Given the description of an element on the screen output the (x, y) to click on. 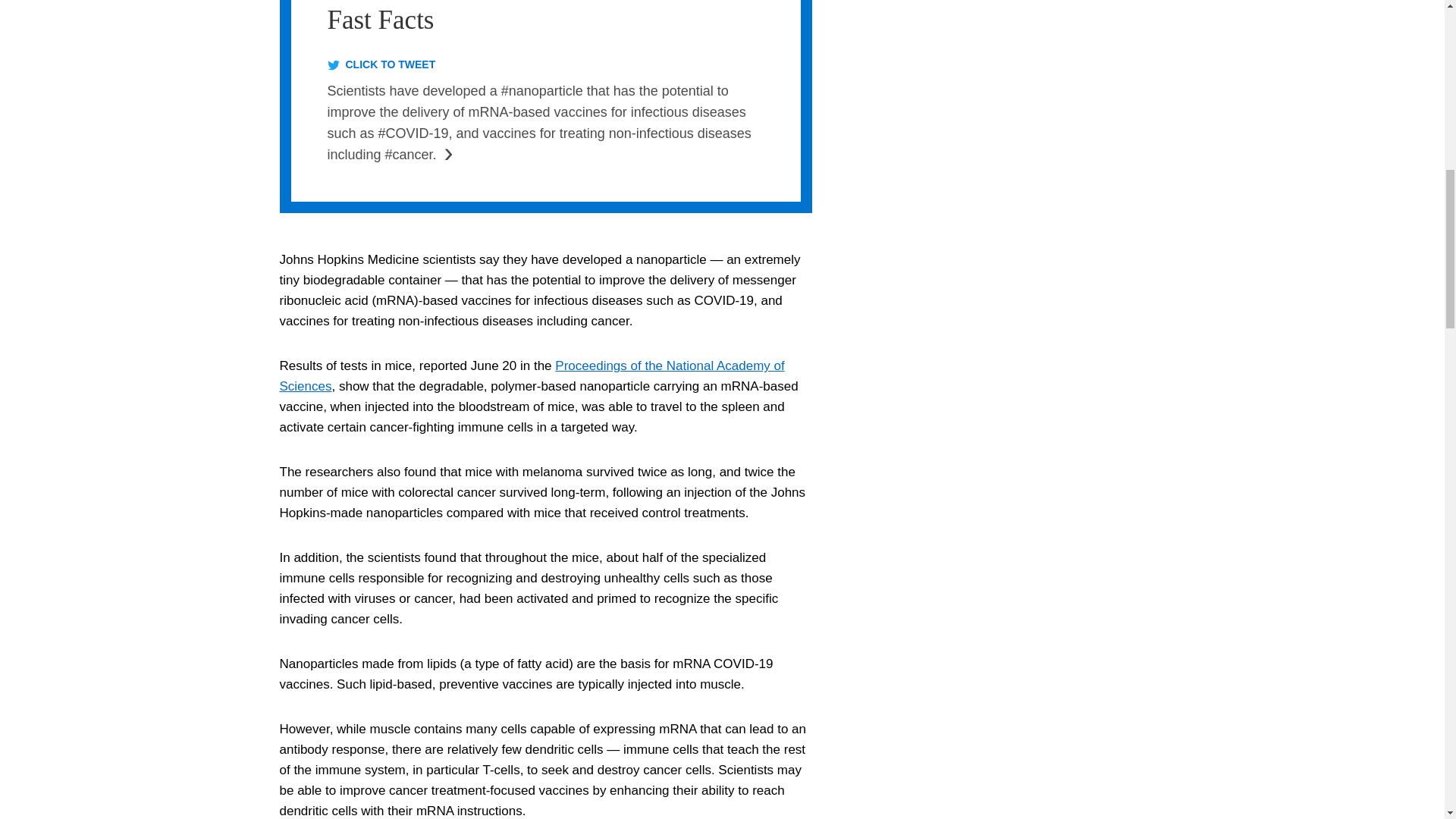
Proceedings of the National Academy of Sciences (531, 375)
